Given the description of an element on the screen output the (x, y) to click on. 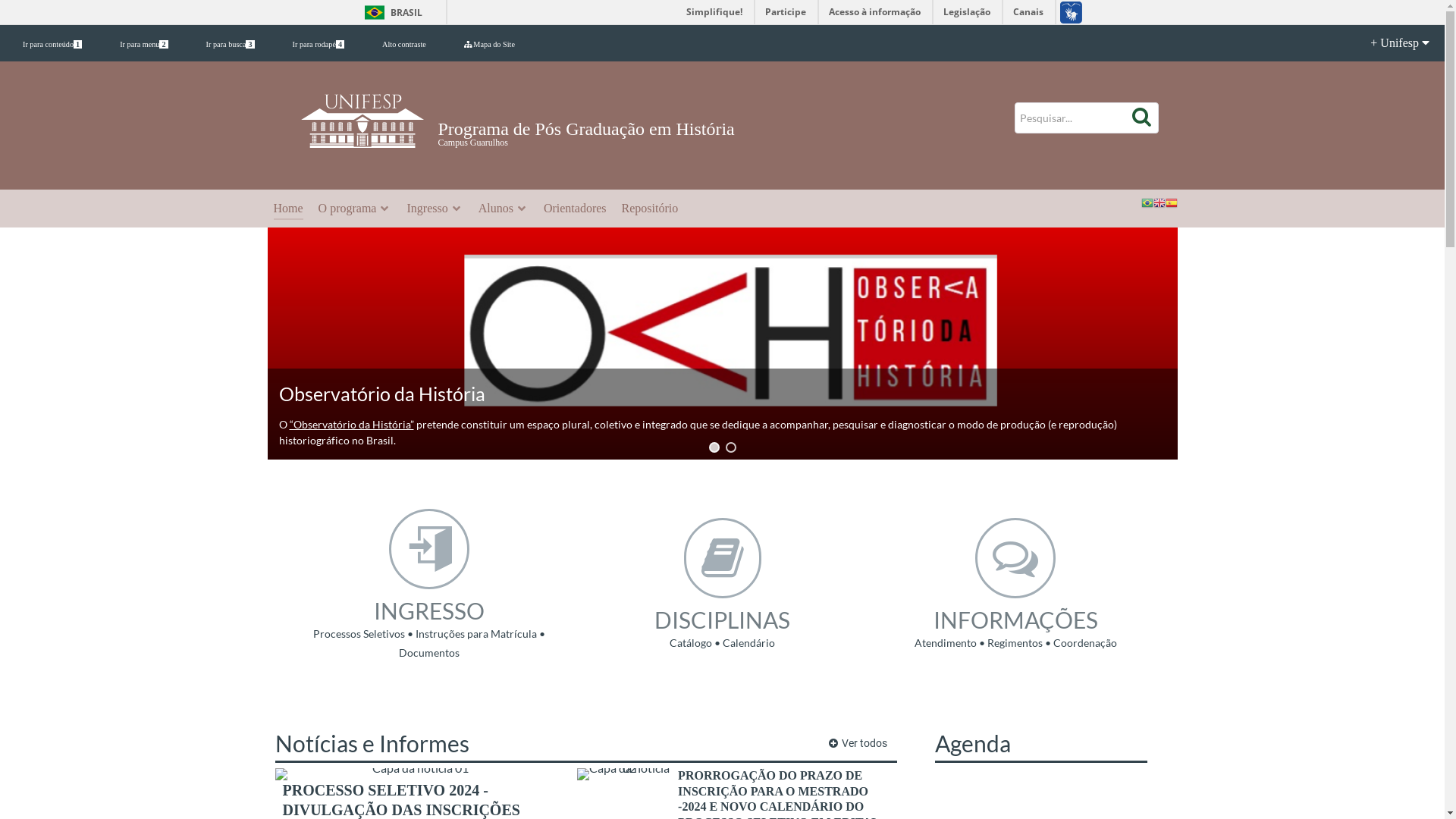
Portuguese Element type: hover (1146, 201)
Ir para menu2 Element type: text (143, 44)
Orientadores Element type: text (574, 209)
English Element type: hover (1158, 201)
Ir para busca3 Element type: text (230, 44)
+ Unifesp Element type: text (1387, 43)
BRASIL Element type: text (389, 12)
Mapa do Site Element type: text (489, 44)
Alto contraste Element type: text (404, 44)
Ver todos Element type: text (857, 743)
Home Element type: text (287, 209)
Spanish Element type: hover (1170, 201)
